Given the description of an element on the screen output the (x, y) to click on. 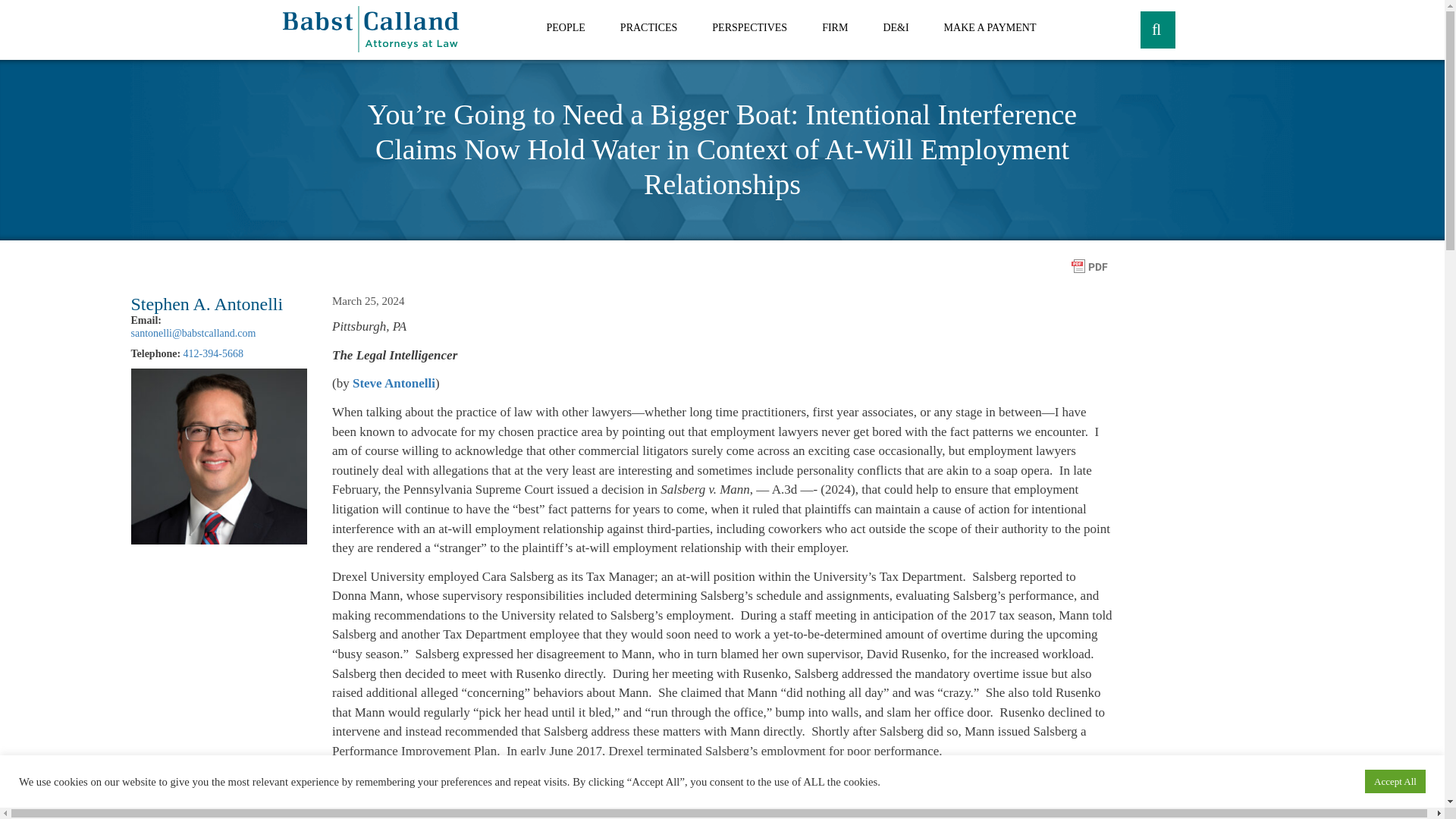
PEOPLE (566, 29)
PRACTICES (648, 29)
